Given the description of an element on the screen output the (x, y) to click on. 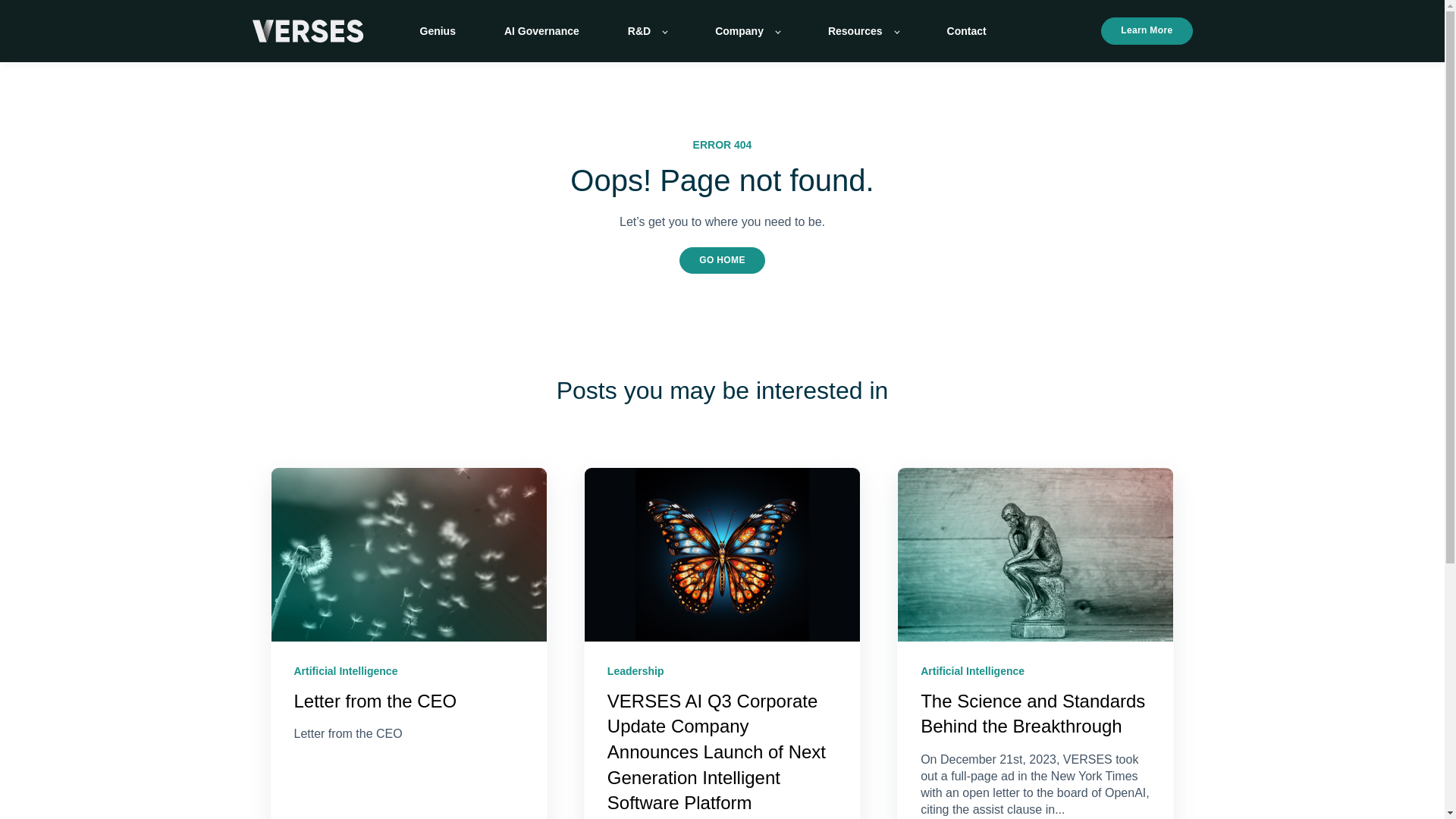
Learn More (1146, 30)
Resources (863, 30)
Submit (761, 482)
Contact (967, 30)
AI Governance (541, 30)
The Science and Standards Behind the Breakthrough (1032, 714)
GO HOME (722, 260)
Letter from the CEO (375, 701)
Company (746, 30)
Genius (437, 30)
